Given the description of an element on the screen output the (x, y) to click on. 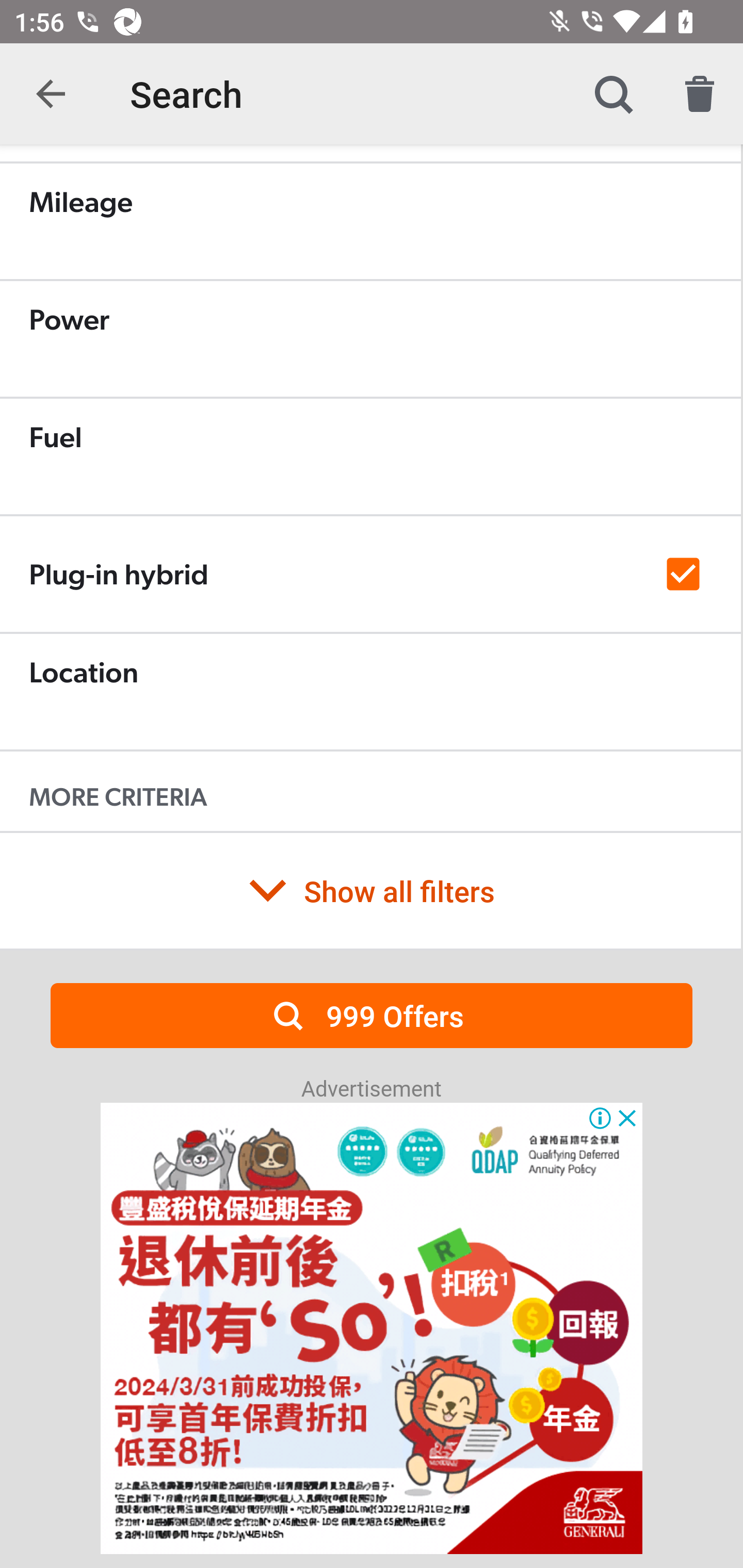
Navigate up (50, 93)
Search (612, 93)
Reset search (699, 93)
Mileage (370, 221)
Power (370, 338)
Fuel (370, 456)
Plug-in hybrid (370, 573)
Plug-in hybrid (369, 574)
Location (370, 691)
Show all filters (370, 890)
999 Offers (371, 1015)
